Given the description of an element on the screen output the (x, y) to click on. 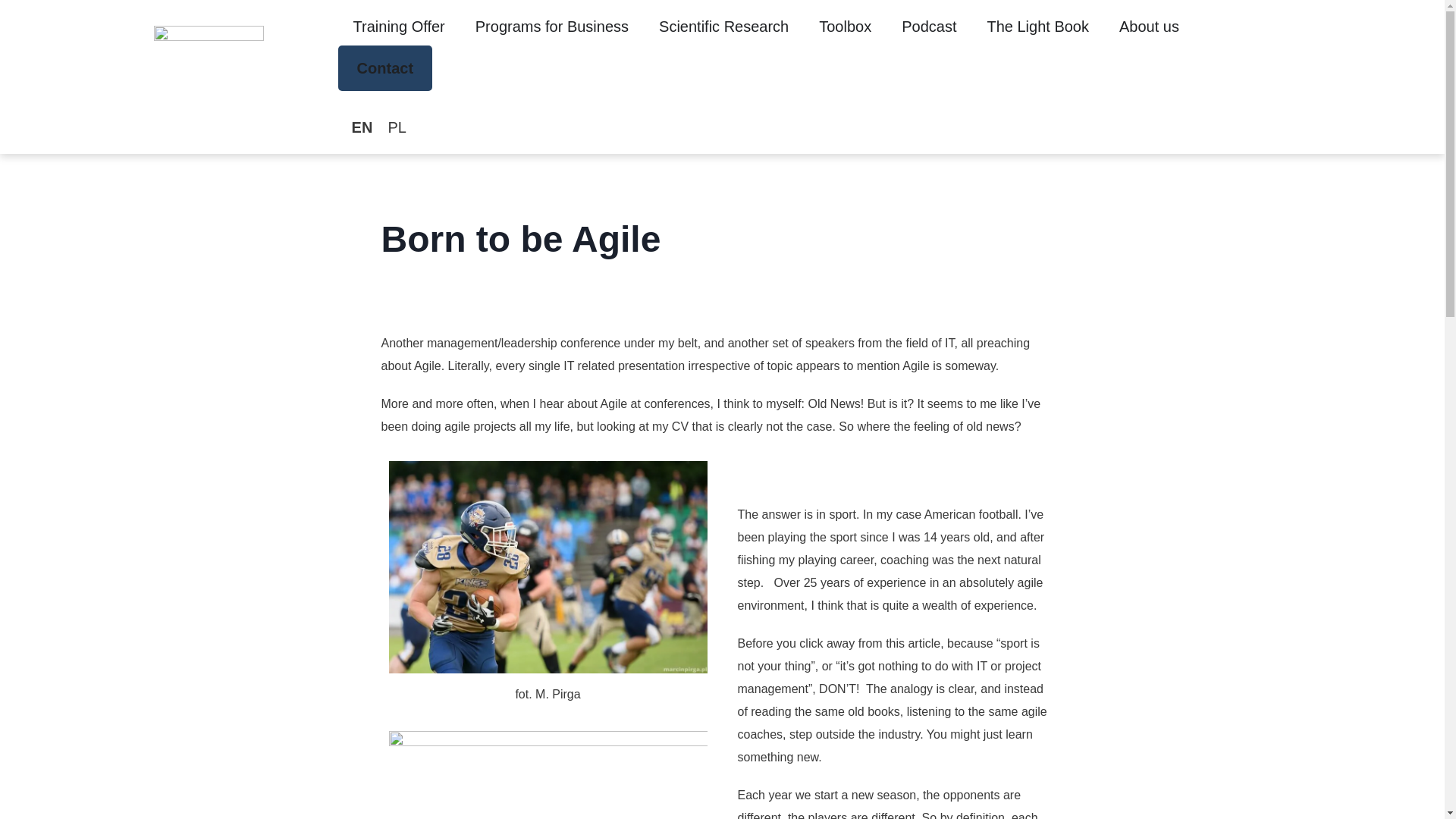
Podcast (928, 26)
Training Offer (399, 26)
About us (1149, 26)
The Light Book (1038, 26)
Programs for Business (552, 26)
